Given the description of an element on the screen output the (x, y) to click on. 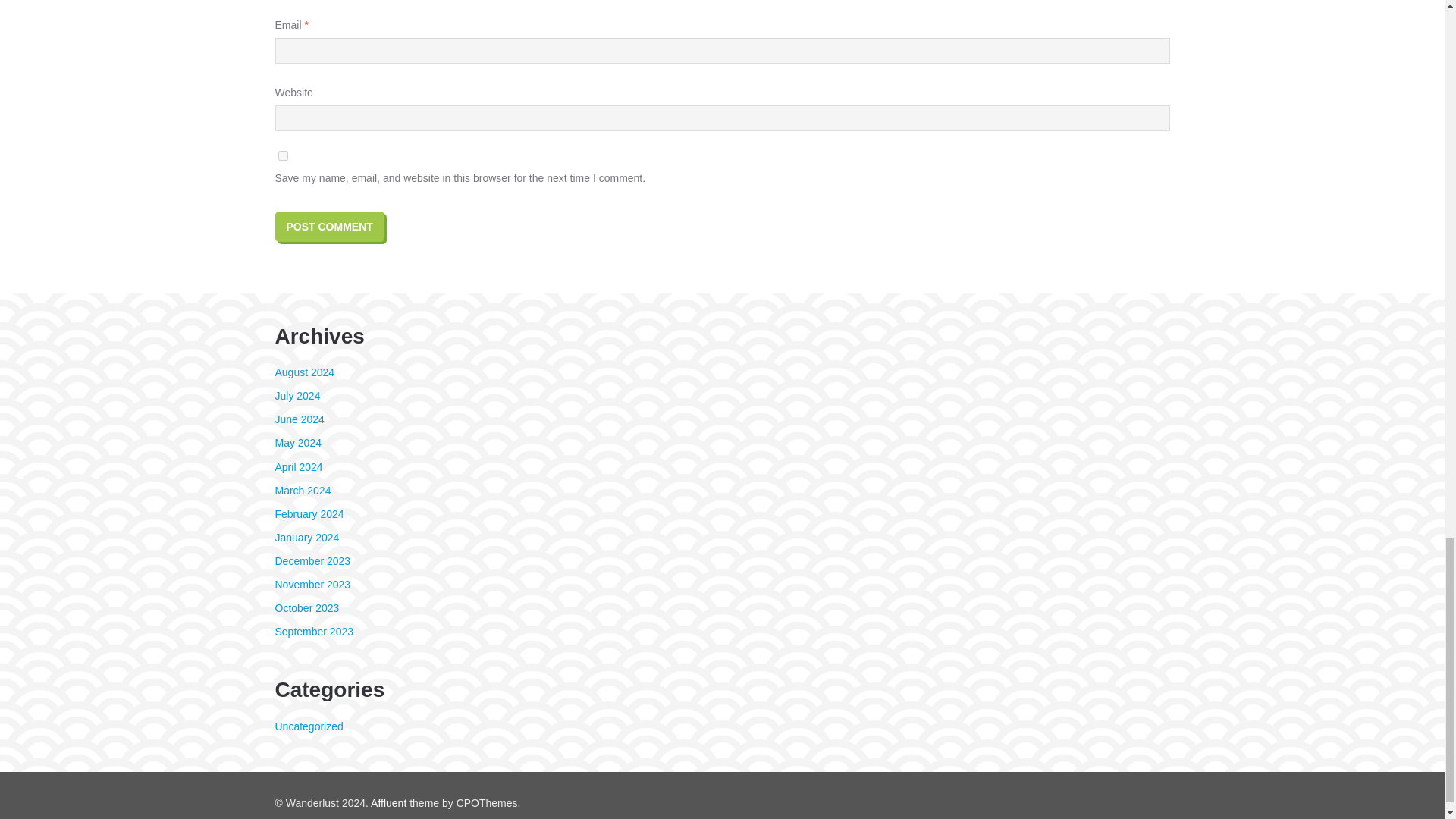
March 2024 (302, 490)
July 2024 (297, 395)
Post Comment (329, 226)
February 2024 (309, 513)
December 2023 (312, 561)
November 2023 (312, 584)
yes (282, 155)
Post Comment (329, 226)
January 2024 (307, 537)
June 2024 (299, 419)
